Given the description of an element on the screen output the (x, y) to click on. 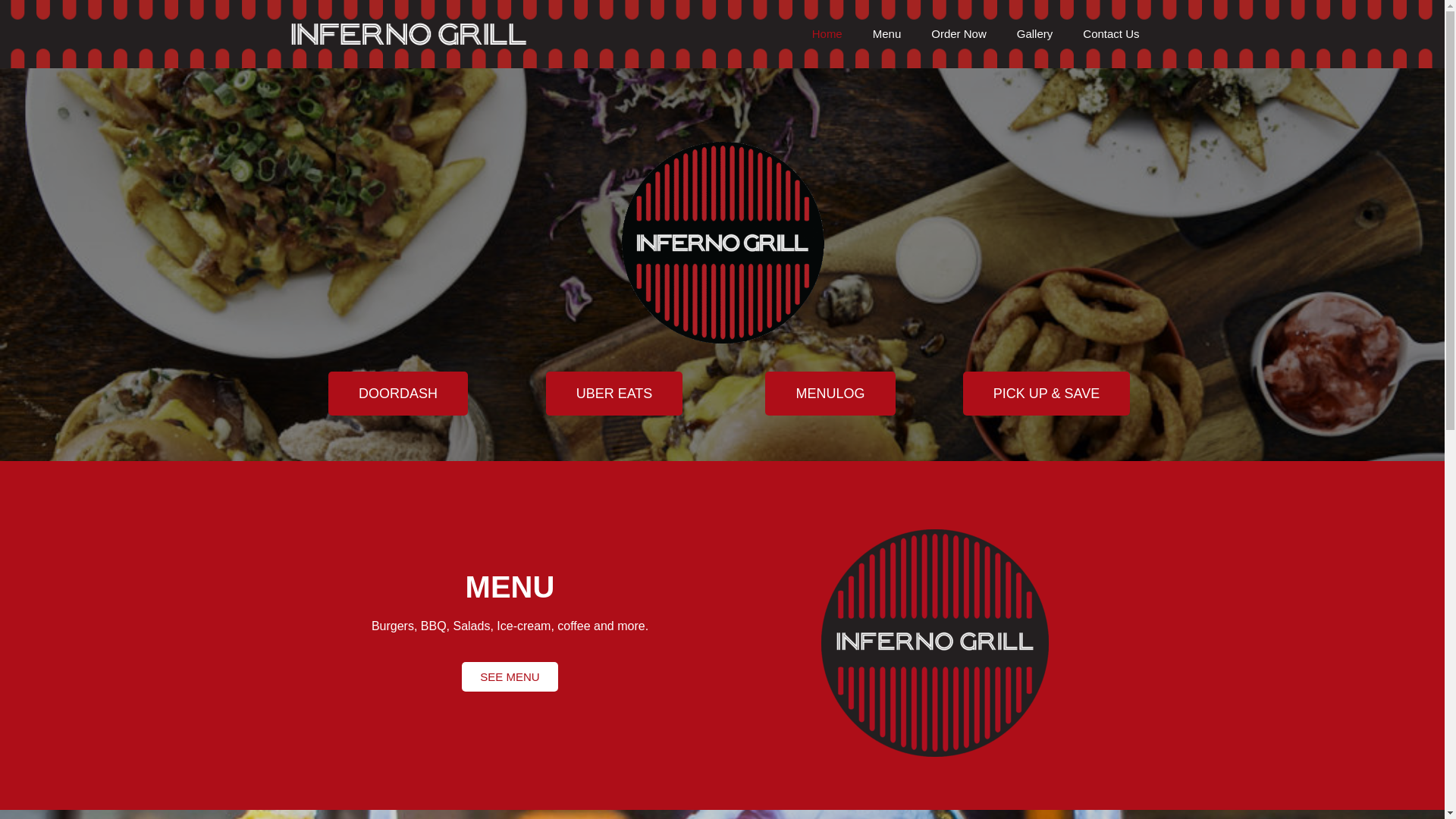
Home Element type: text (827, 34)
PICK UP & SAVE Element type: text (1046, 393)
MENULOG Element type: text (829, 393)
Order Now Element type: text (958, 34)
DOORDASH Element type: text (397, 393)
Contact Us Element type: text (1110, 34)
SEE MENU Element type: text (509, 676)
Menu Element type: text (886, 34)
UBER EATS Element type: text (614, 393)
Gallery Element type: text (1034, 34)
